Given the description of an element on the screen output the (x, y) to click on. 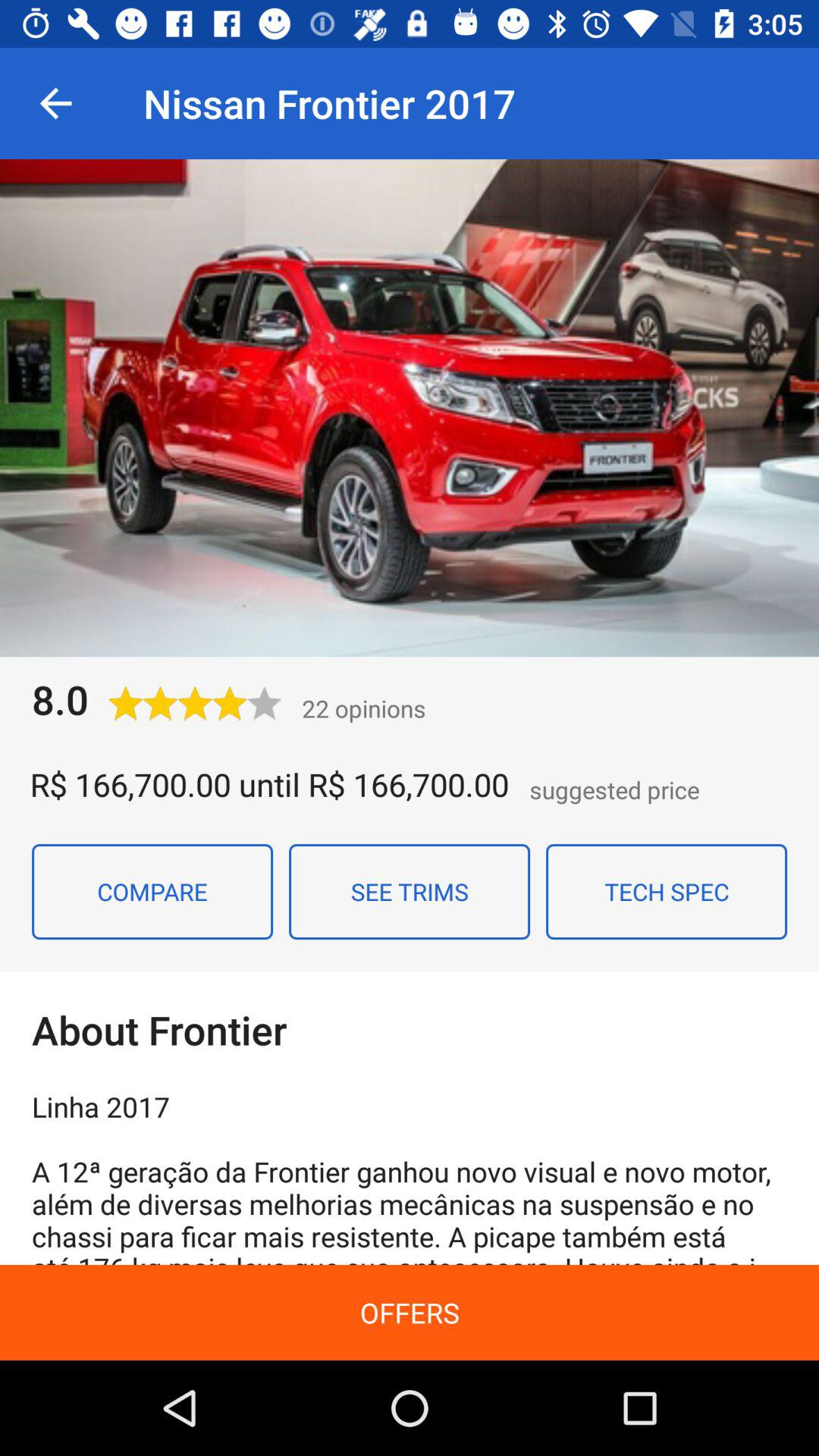
tap tech spec icon (666, 891)
